Given the description of an element on the screen output the (x, y) to click on. 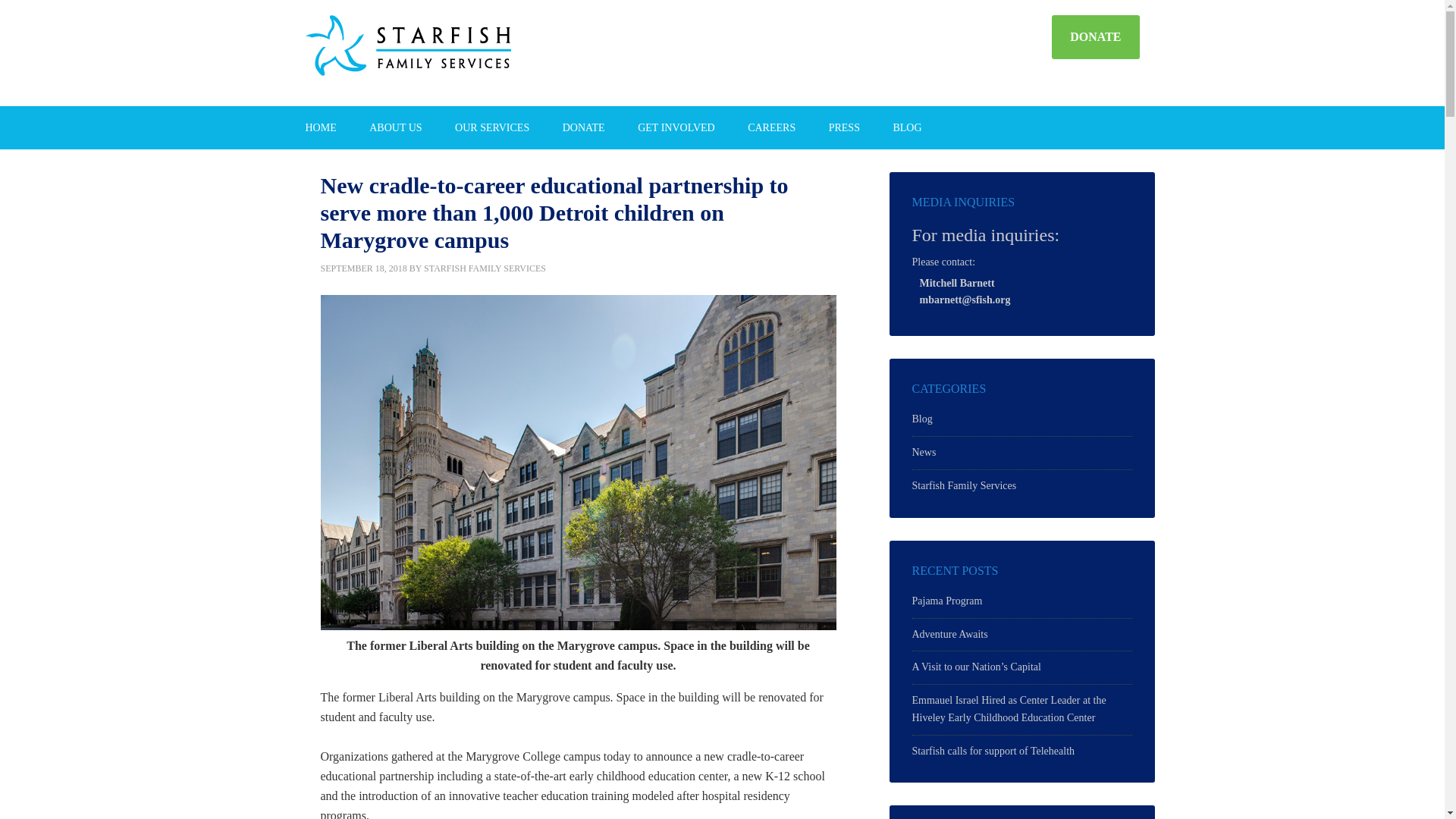
Mitchell Barnett (956, 283)
STARFISH FAMILY SERVICES (484, 267)
ABOUT US (394, 127)
DONATE (1094, 36)
DONATE (583, 127)
PRESS (844, 127)
News (923, 451)
HOME (319, 127)
OUR SERVICES (491, 127)
CAREERS (771, 127)
STARFISH FAMILY SERVICES (437, 52)
BLOG (906, 127)
Blog (921, 419)
GET INVOLVED (676, 127)
